Given the description of an element on the screen output the (x, y) to click on. 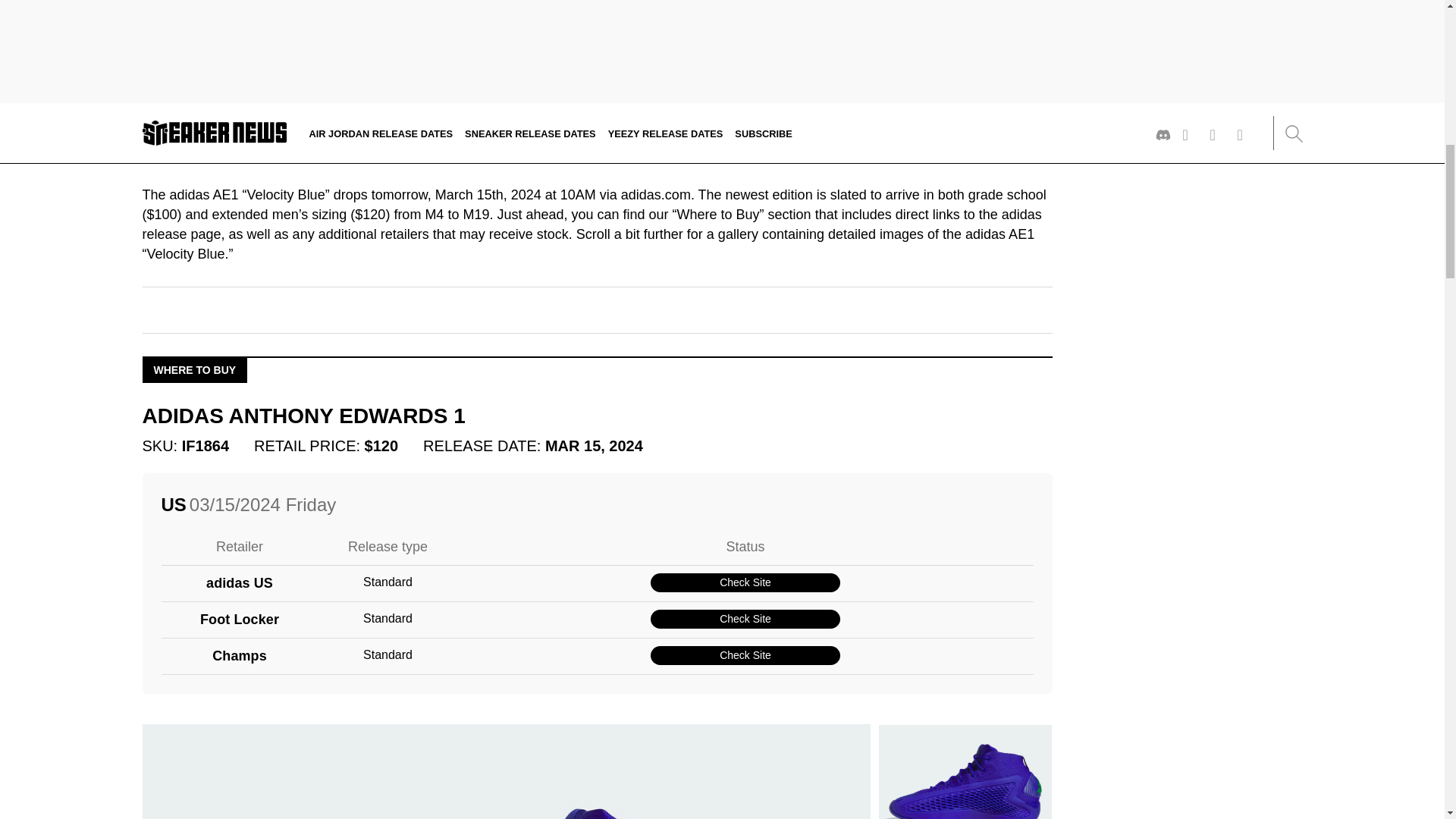
Champs (239, 656)
Check Site (745, 582)
Check Site (745, 618)
Check Site (745, 655)
adidas US (239, 583)
Matt Varga (205, 128)
Foot Locker (239, 619)
